Given the description of an element on the screen output the (x, y) to click on. 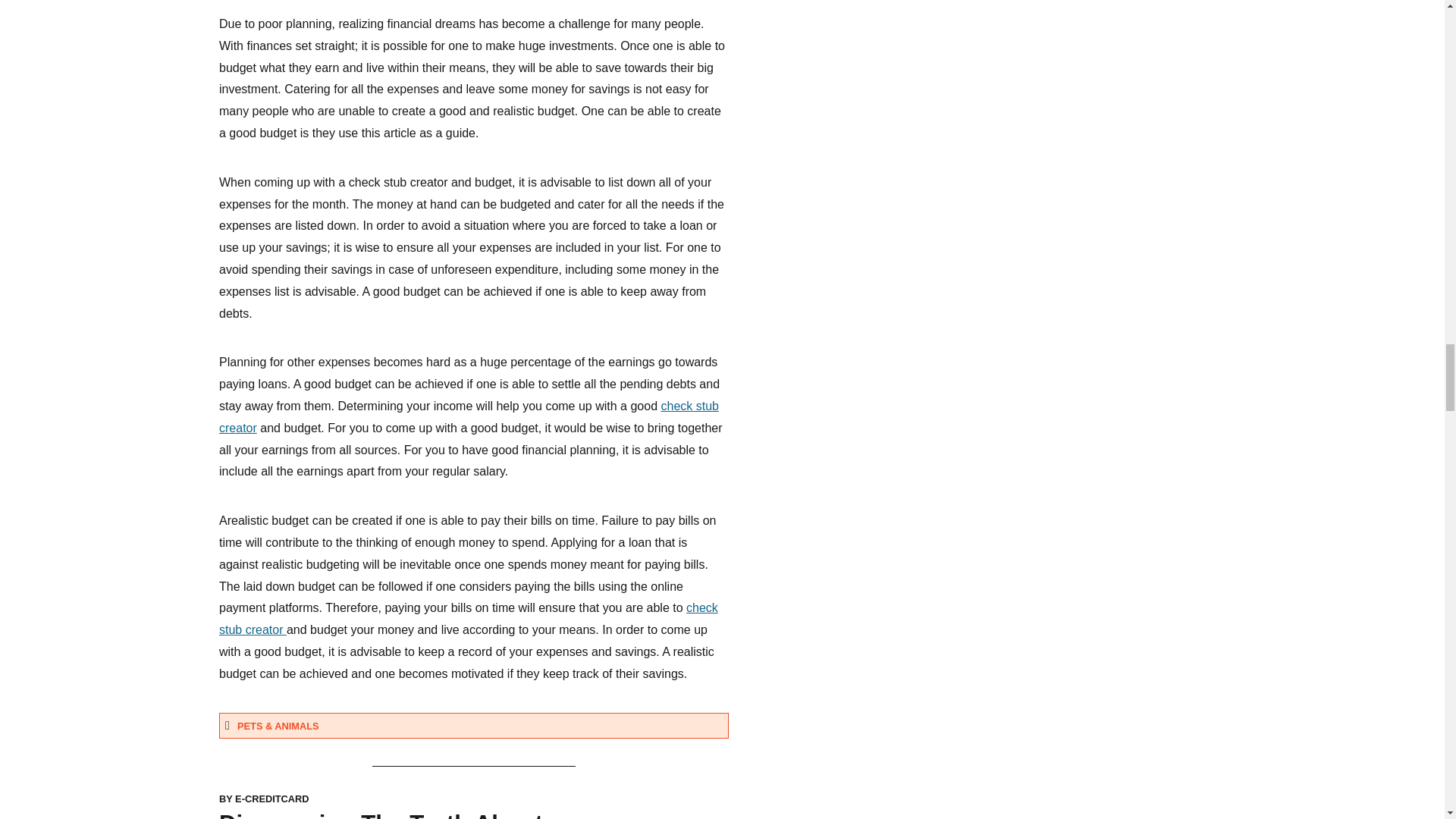
check stub creator (469, 416)
Discovering The Truth About (381, 814)
check stub creator (468, 618)
